Given the description of an element on the screen output the (x, y) to click on. 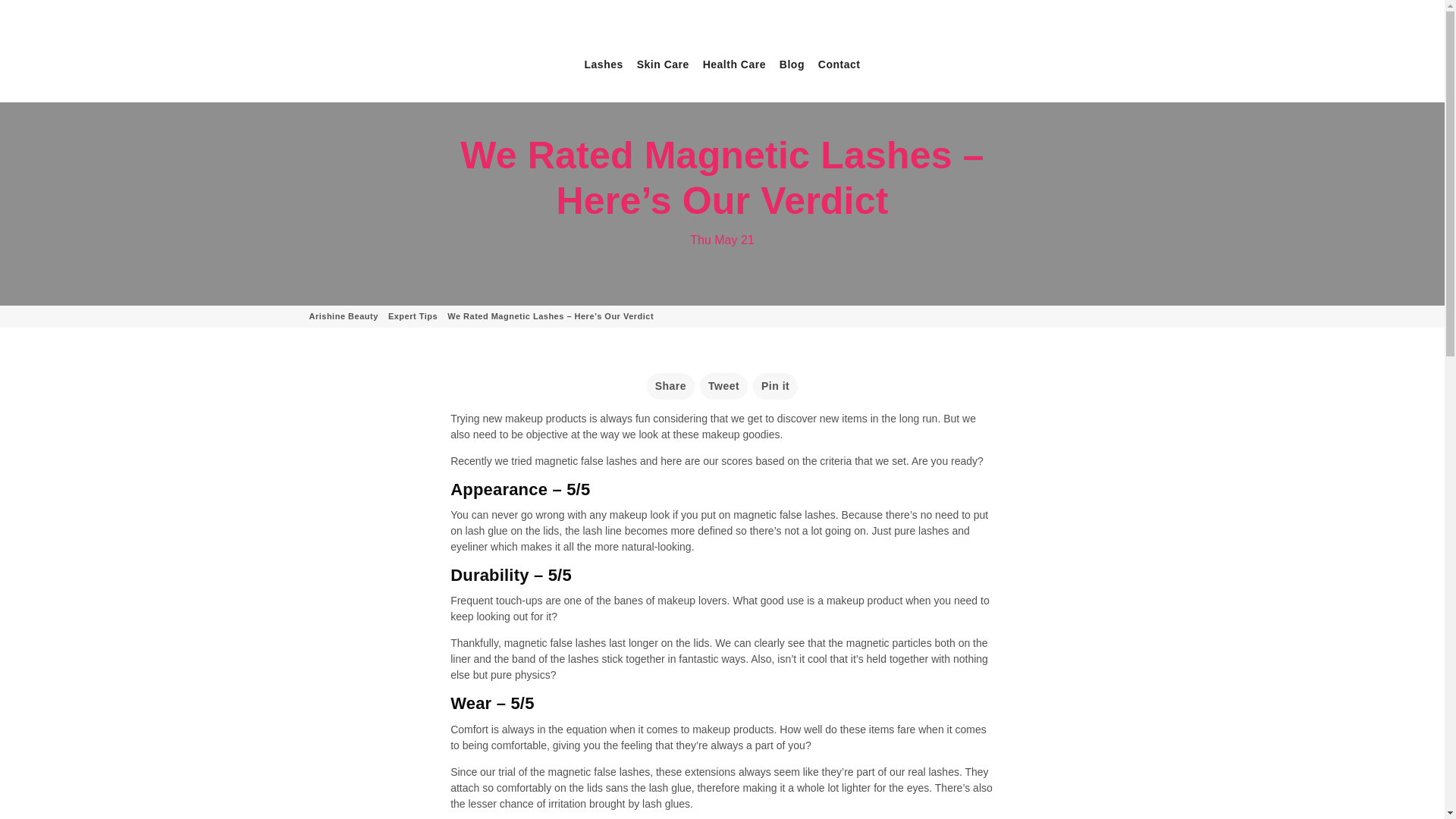
Share on Facebook (670, 386)
Skin Care (662, 64)
Tweet on Twitter (724, 386)
Lashes (603, 64)
Pin on Pinterest (774, 386)
